Given the description of an element on the screen output the (x, y) to click on. 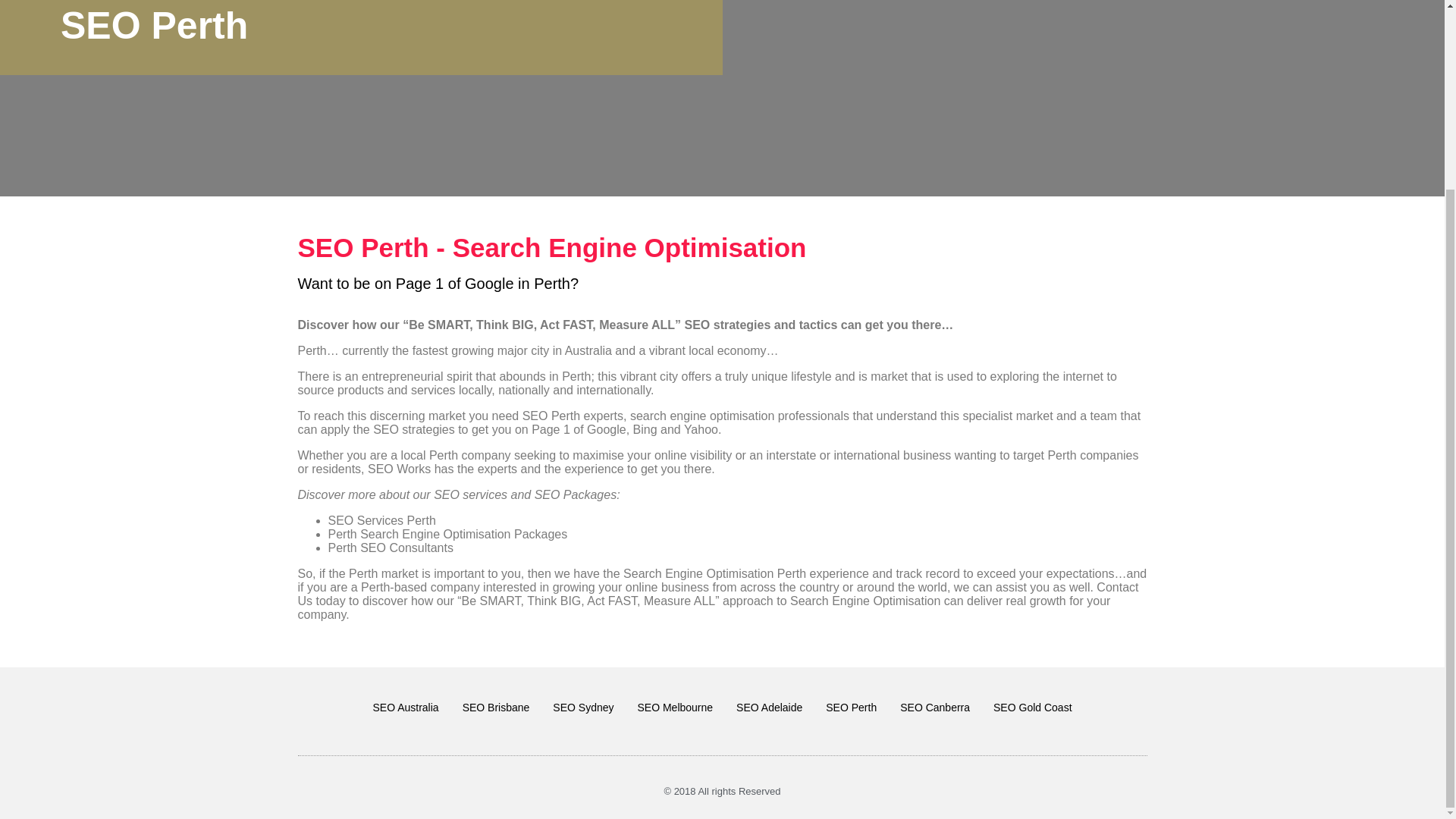
SEO Sydney (582, 707)
SEO Melbourne (675, 707)
SEO Canberra (934, 707)
SEO Brisbane (496, 707)
SEO Adelaide (769, 707)
SEO Perth (850, 707)
SEO Australia (405, 707)
SEO Gold Coast (1031, 707)
